Given the description of an element on the screen output the (x, y) to click on. 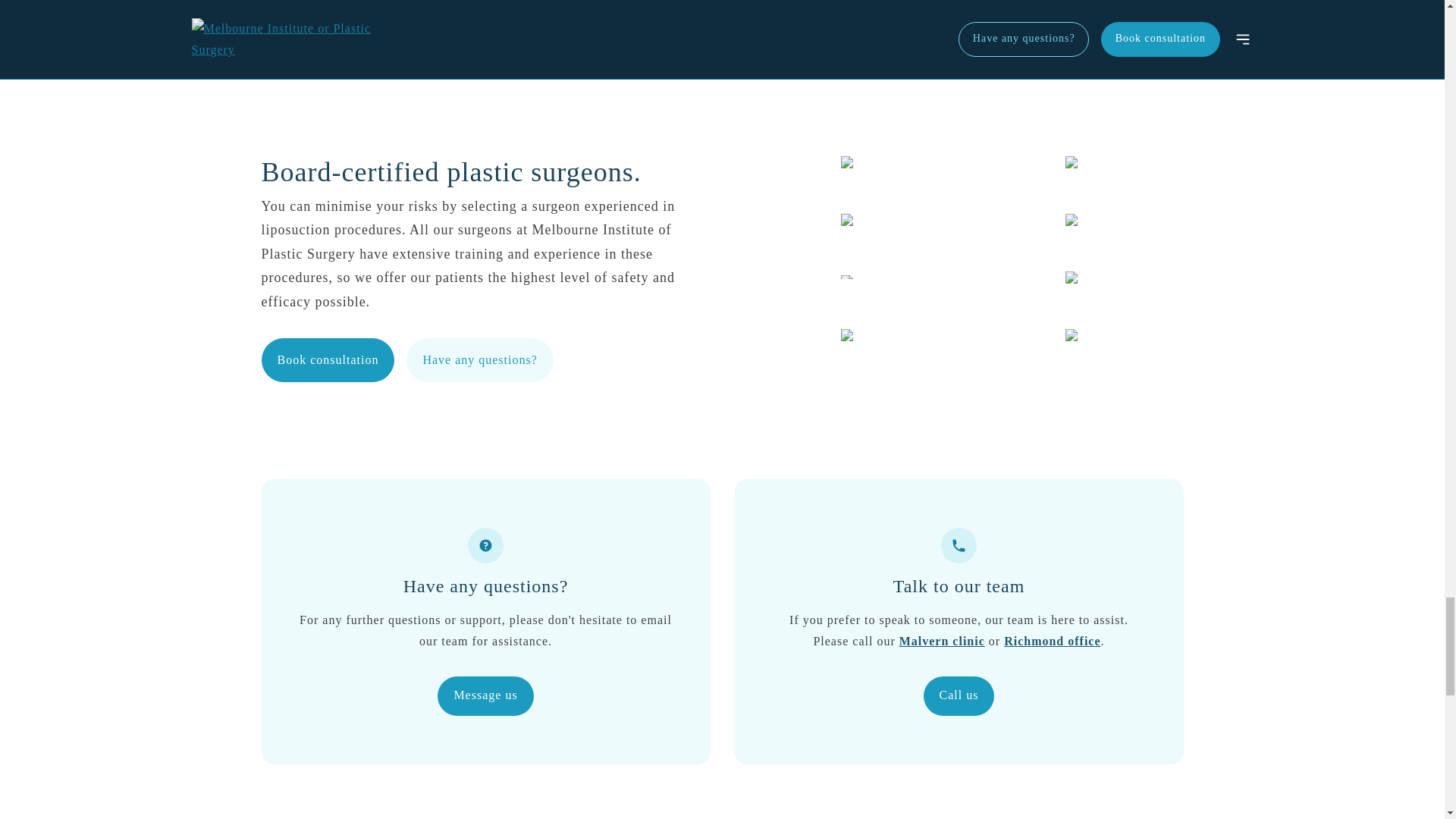
Call us (958, 695)
Message us (485, 695)
Have any questions? (479, 360)
Book consultation (327, 360)
Richmond office (1052, 640)
View profile (546, 43)
Malvern clinic (942, 640)
View profile (309, 43)
